Given the description of an element on the screen output the (x, y) to click on. 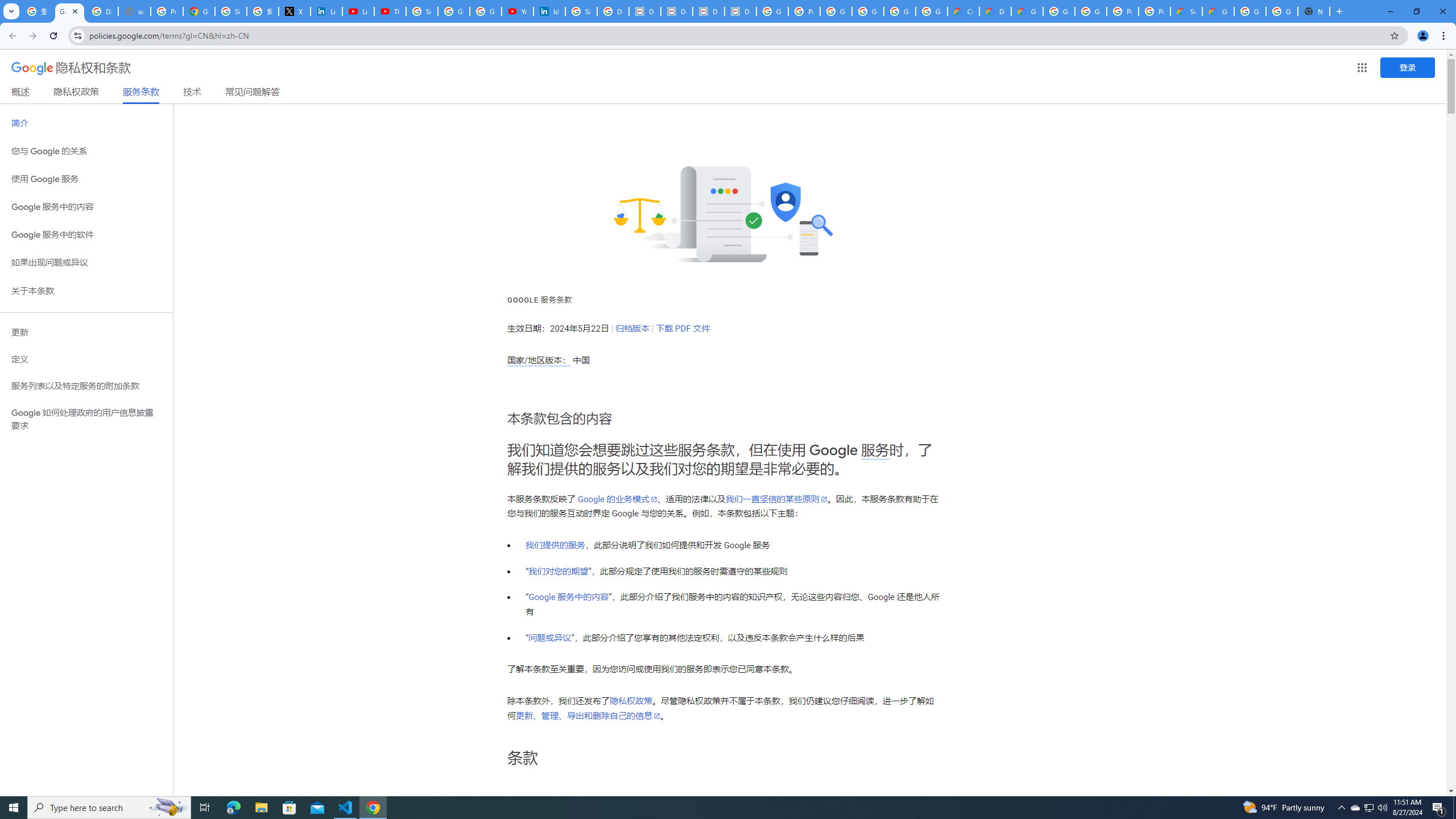
Data Privacy Framework (676, 11)
